Given the description of an element on the screen output the (x, y) to click on. 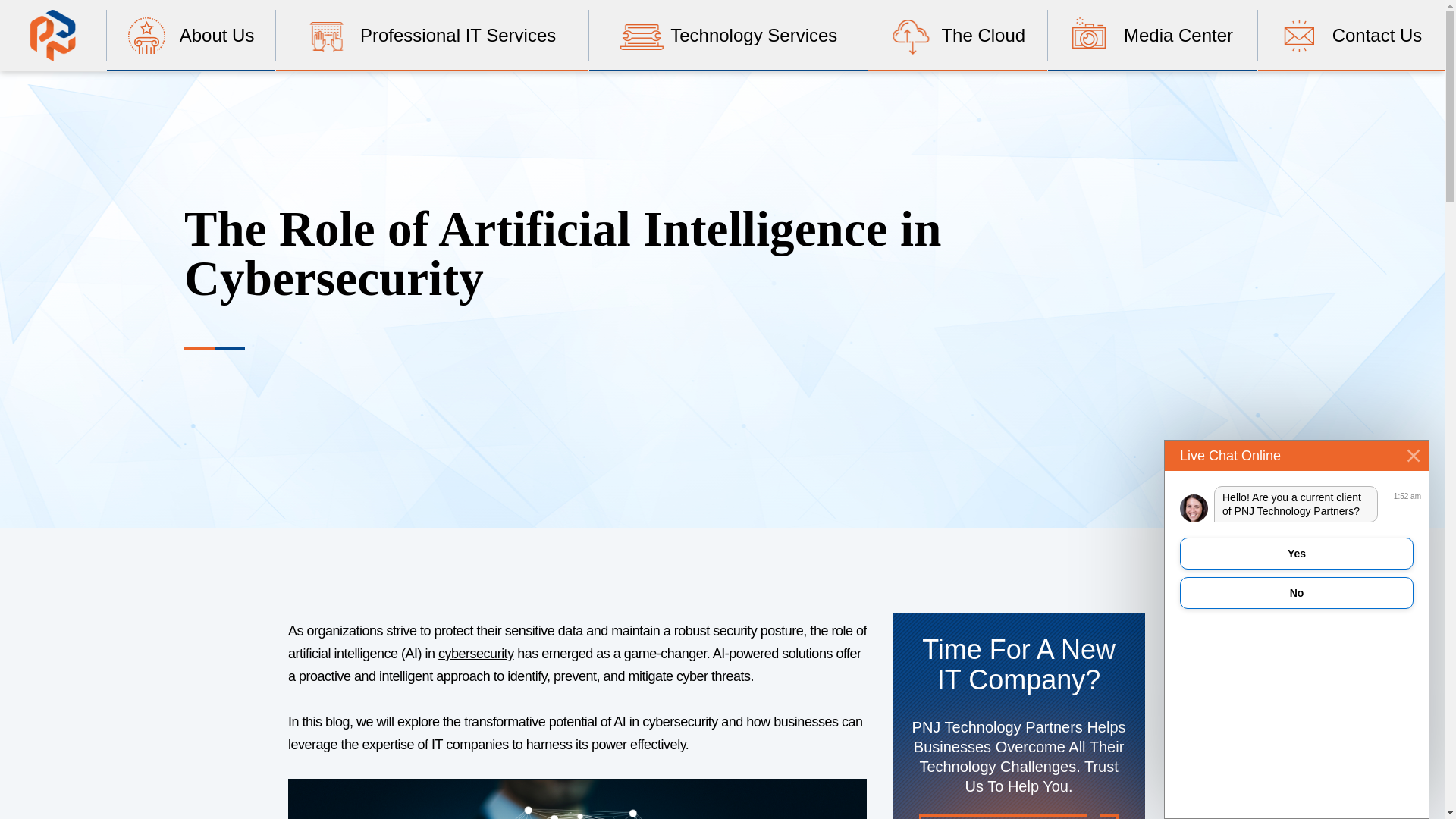
The Cloud (957, 35)
Technology Services (727, 35)
Professional IT Services (432, 35)
Media Center (1152, 35)
Contact Us (1351, 35)
About Us (191, 35)
